Given the description of an element on the screen output the (x, y) to click on. 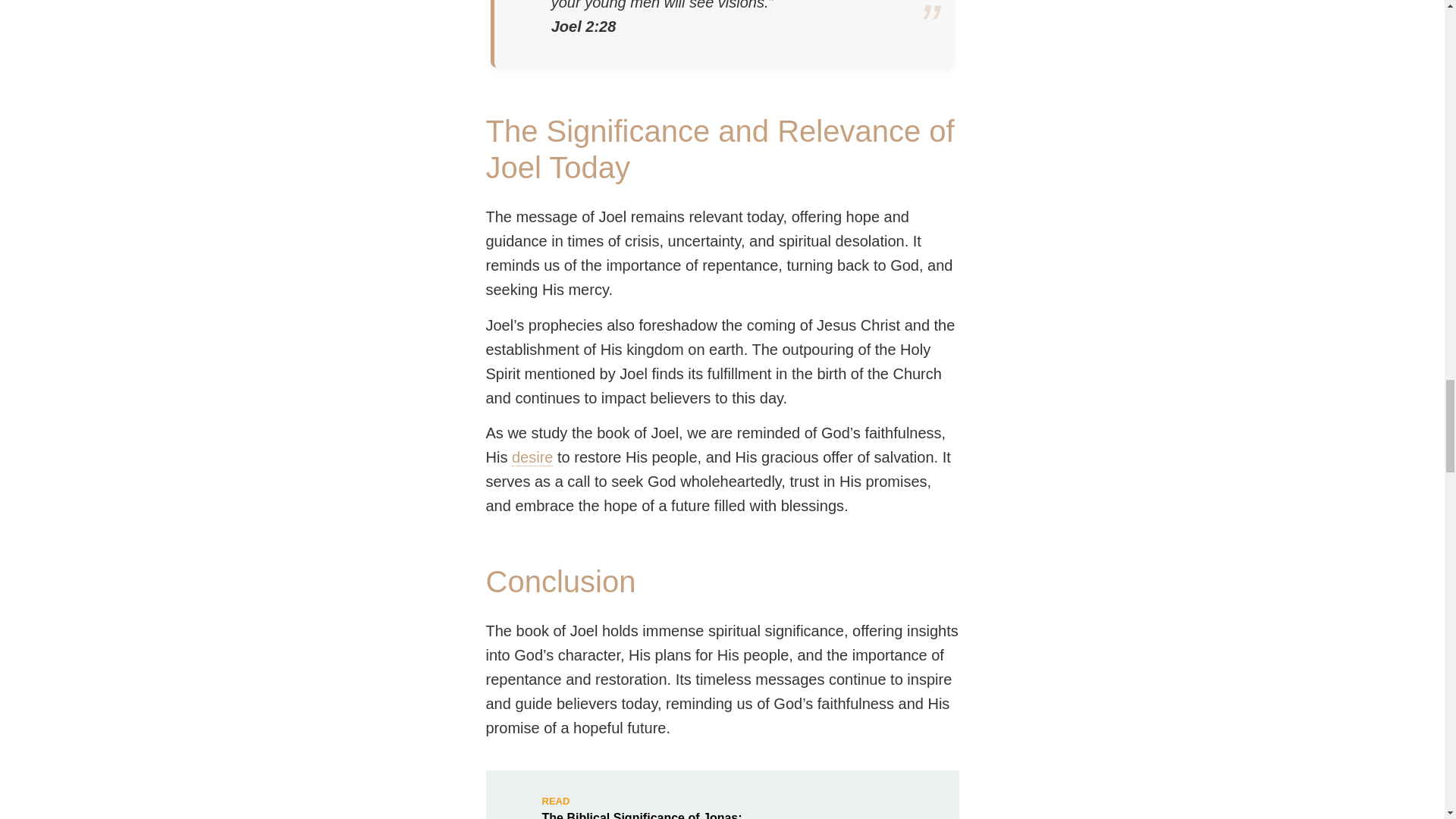
desire (532, 457)
desire (532, 457)
